Given the description of an element on the screen output the (x, y) to click on. 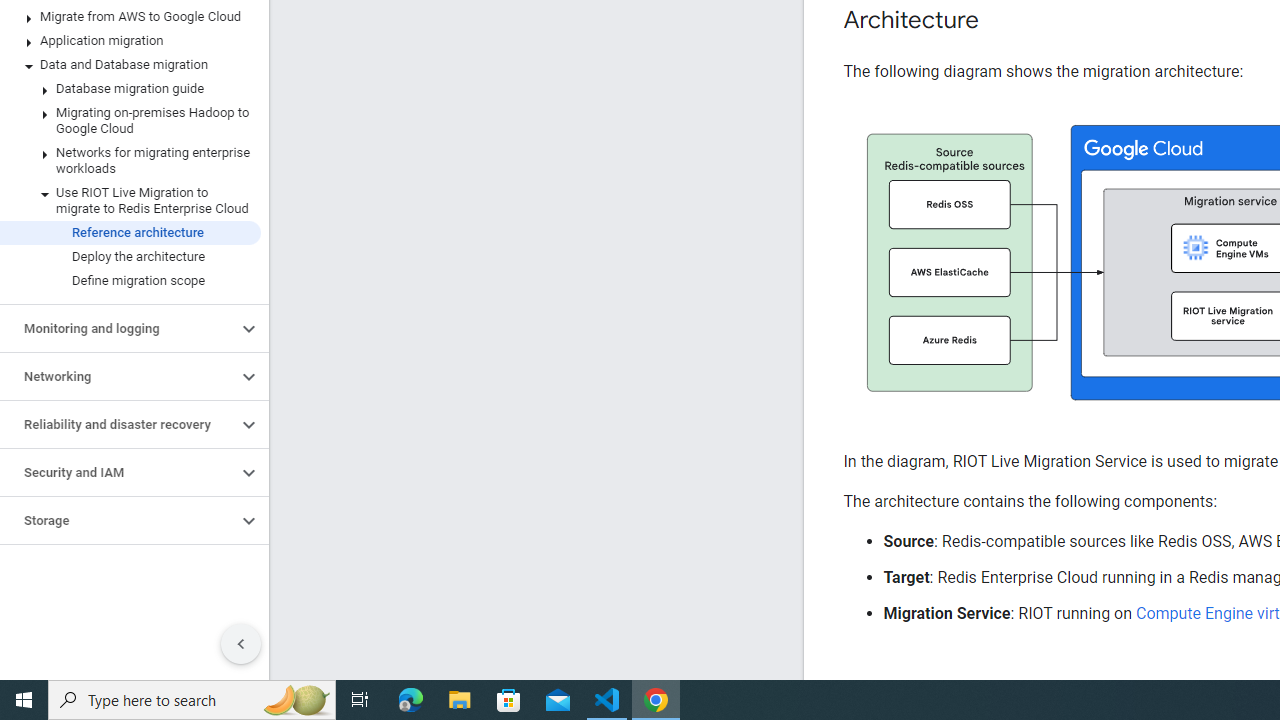
Monitoring and logging (118, 328)
Reference architecture (130, 232)
Use RIOT Live Migration to migrate to Redis Enterprise Cloud (130, 200)
Copy link to this section: Architecture (997, 20)
Networking (118, 376)
Migrating on-premises Hadoop to Google Cloud (130, 120)
Define migration scope (130, 281)
Migrate from AWS to Google Cloud (130, 16)
Networks for migrating enterprise workloads (130, 160)
Application migration (130, 40)
Hide side navigation (241, 643)
Database migration guide (130, 88)
Storage (118, 520)
Reliability and disaster recovery (118, 425)
Deploy the architecture (130, 256)
